Given the description of an element on the screen output the (x, y) to click on. 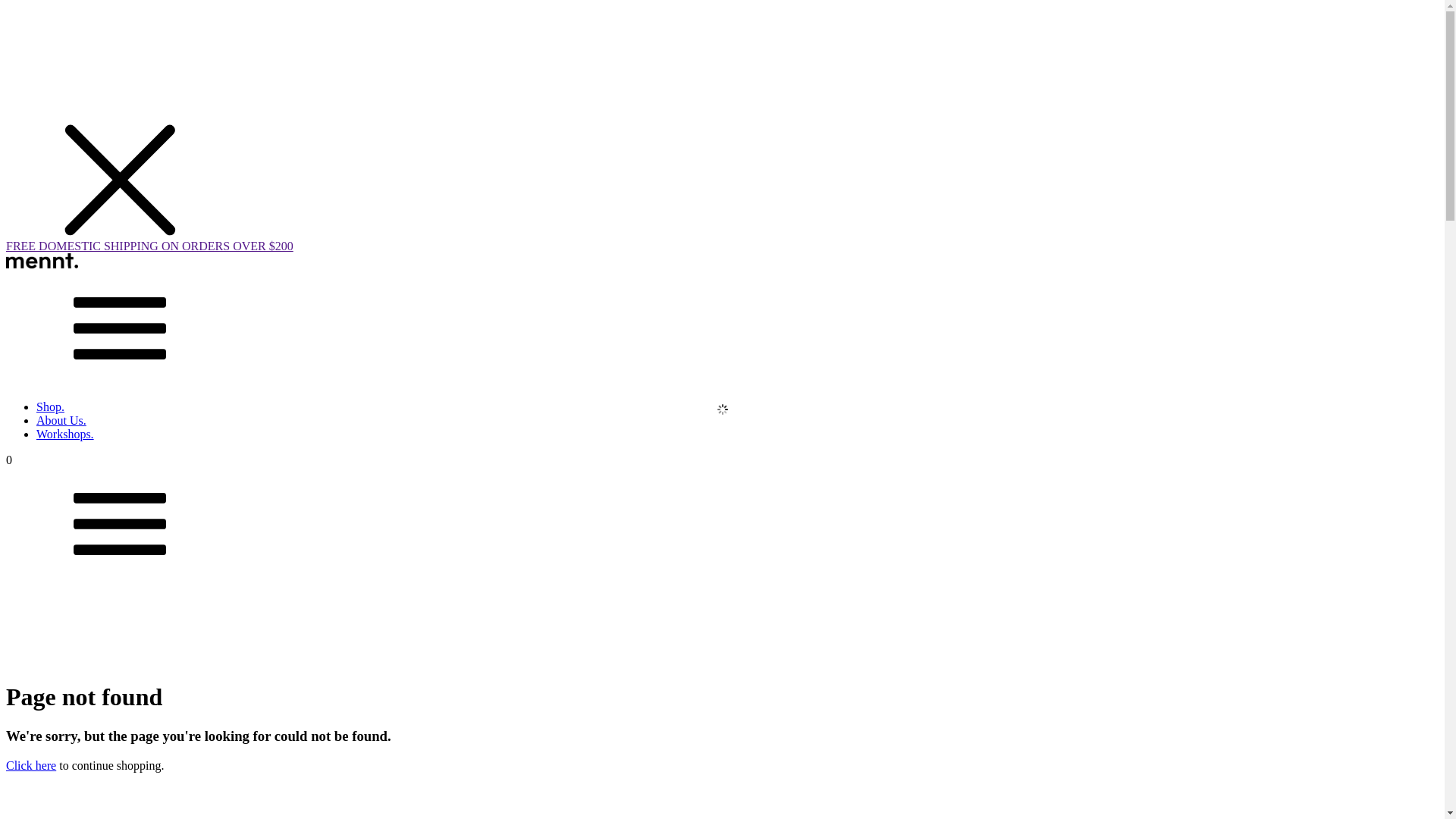
Click here Element type: text (31, 765)
Workshops. Element type: text (65, 433)
FREE DOMESTIC SHIPPING ON ORDERS OVER $200 Element type: text (722, 246)
About Us. Element type: text (61, 420)
Shop. Element type: text (50, 406)
Mennt Element type: hover (42, 263)
